Given the description of an element on the screen output the (x, y) to click on. 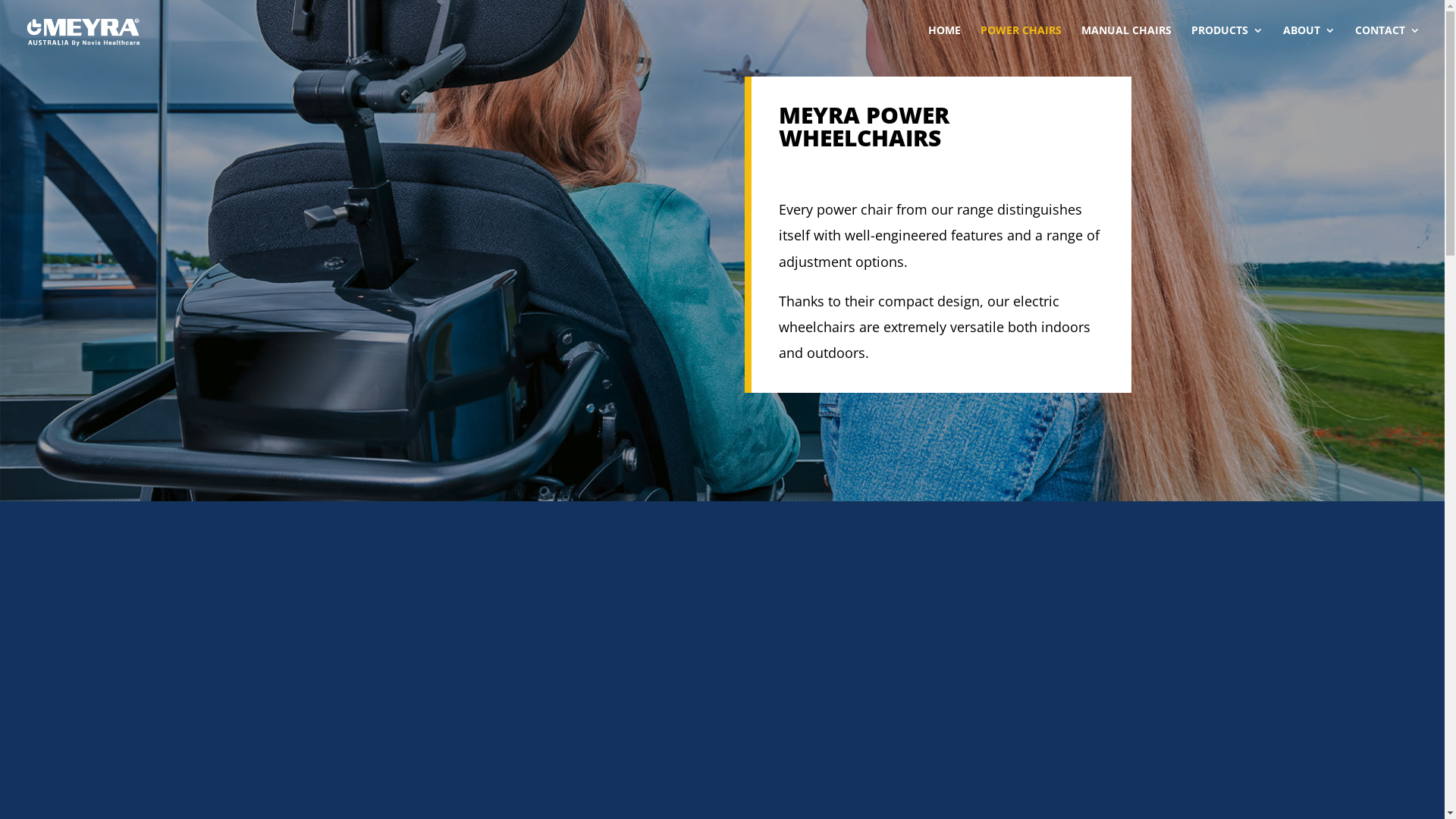
HOME Element type: text (944, 42)
POWER CHAIRS Element type: text (1020, 42)
PRODUCTS Element type: text (1227, 42)
ABOUT Element type: text (1309, 42)
CONTACT Element type: text (1387, 42)
MANUAL CHAIRS Element type: text (1126, 42)
